Given the description of an element on the screen output the (x, y) to click on. 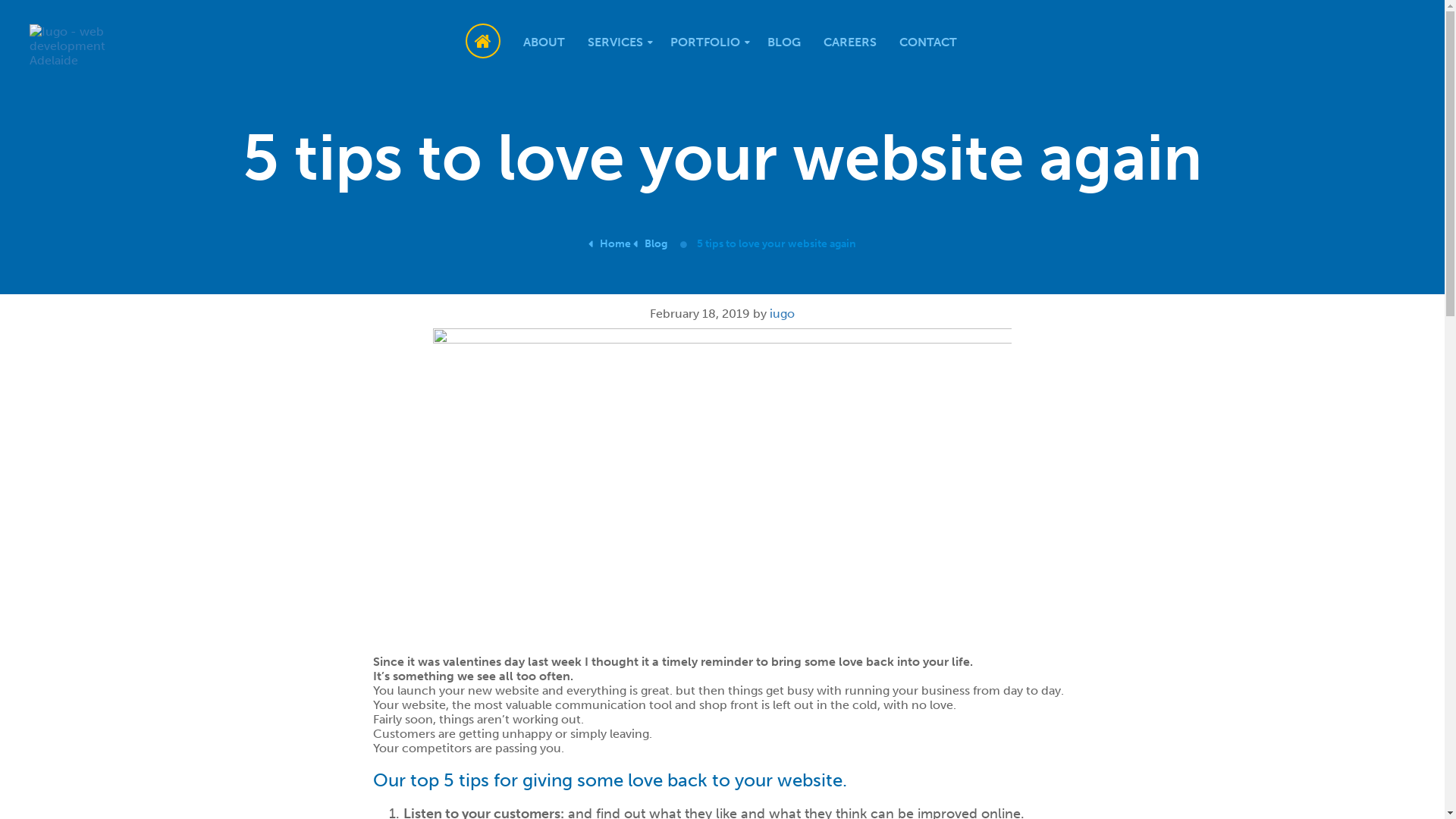
CONTACT Element type: text (927, 42)
CAREERS Element type: text (849, 42)
iugo Element type: text (781, 313)
ABOUT Element type: text (543, 42)
BLOG Element type: text (783, 42)
SERVICES Element type: text (617, 42)
Blog Element type: text (650, 243)
Home Element type: text (609, 243)
PORTFOLIO Element type: text (706, 42)
